Given the description of an element on the screen output the (x, y) to click on. 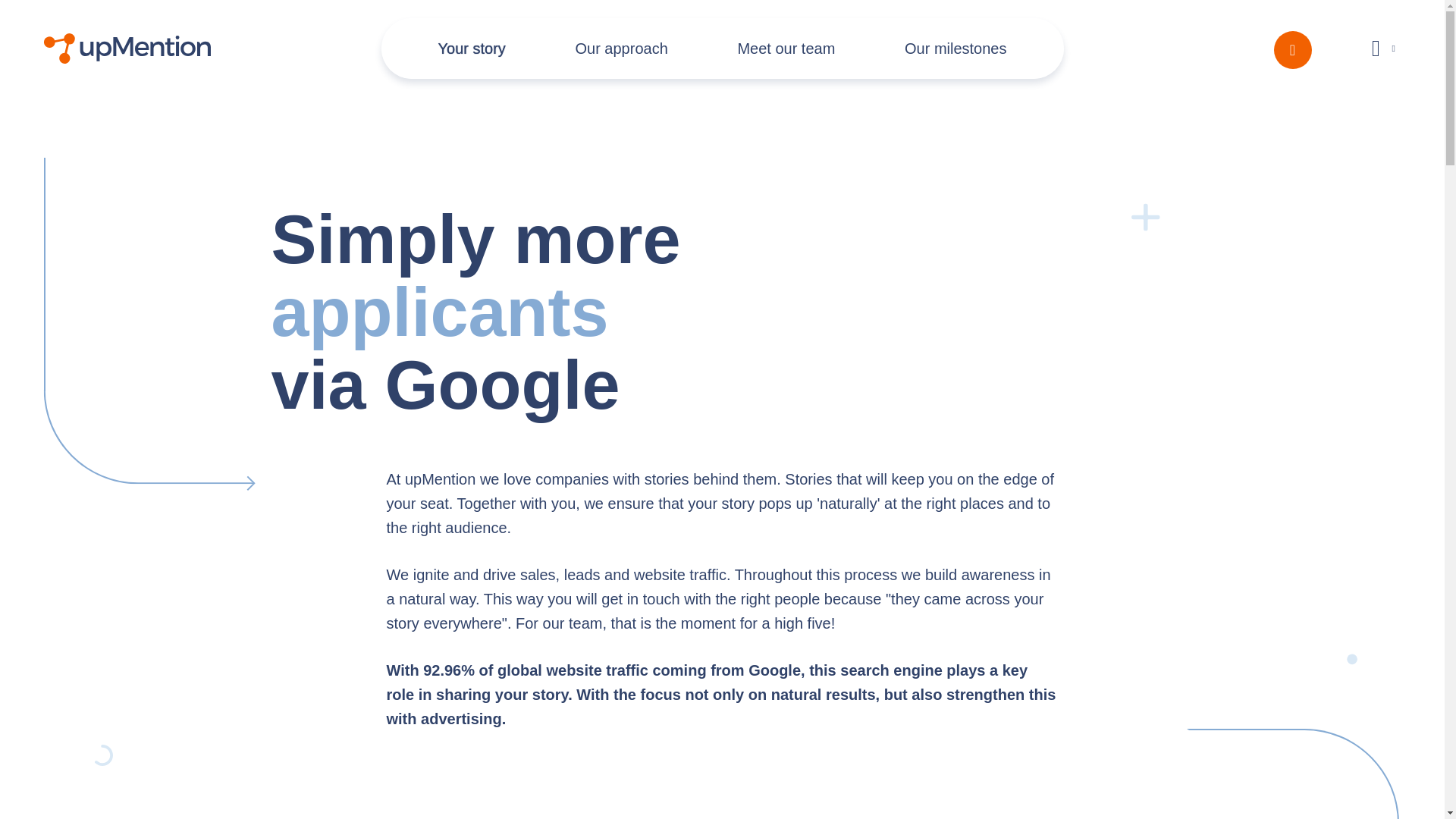
Go to language popup (1382, 47)
Our milestones (955, 48)
Our approach (620, 48)
Meet our team (785, 48)
Your story (471, 48)
